Given the description of an element on the screen output the (x, y) to click on. 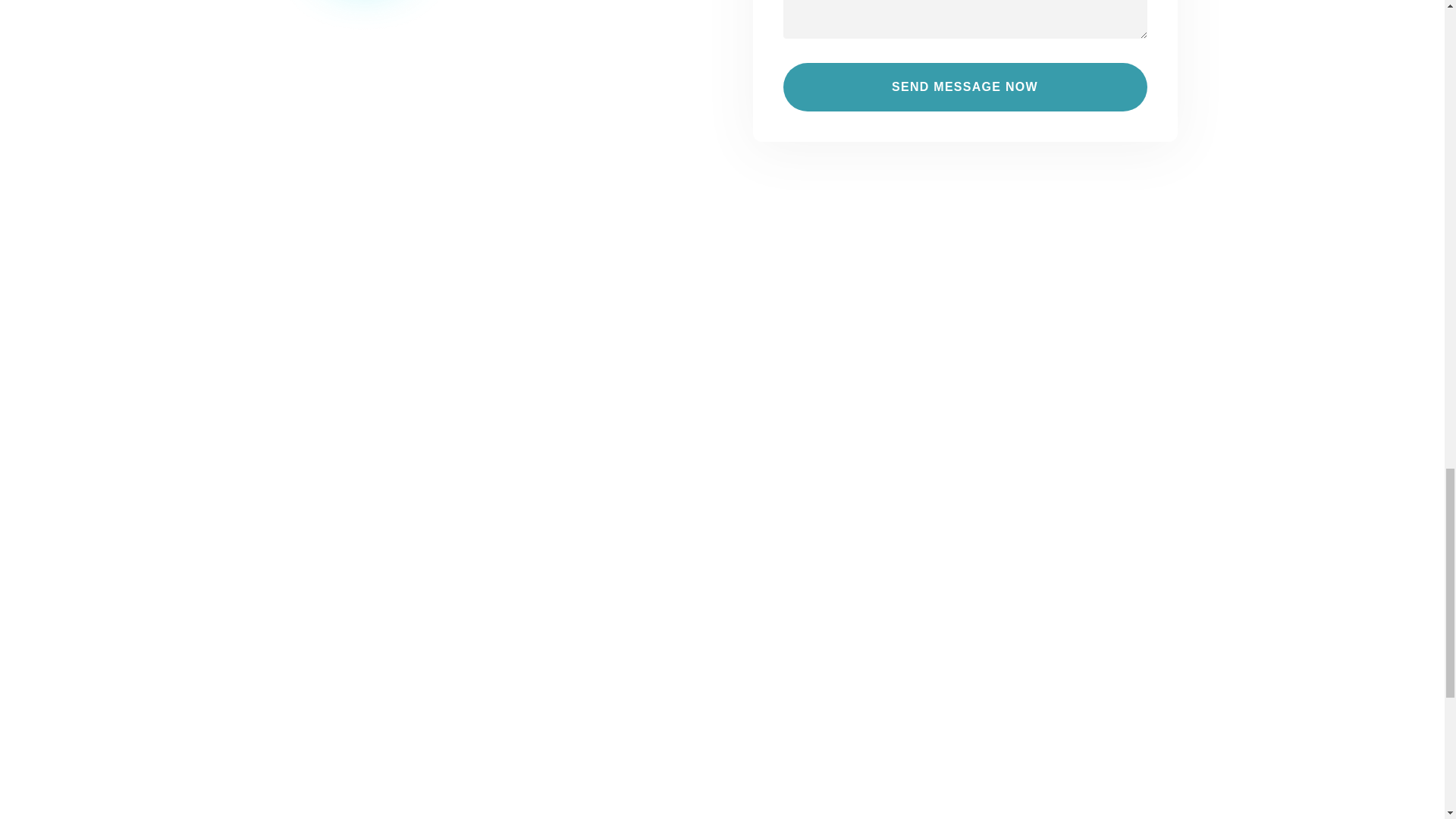
Send Message Now (965, 87)
Send Message Now (965, 87)
